Given the description of an element on the screen output the (x, y) to click on. 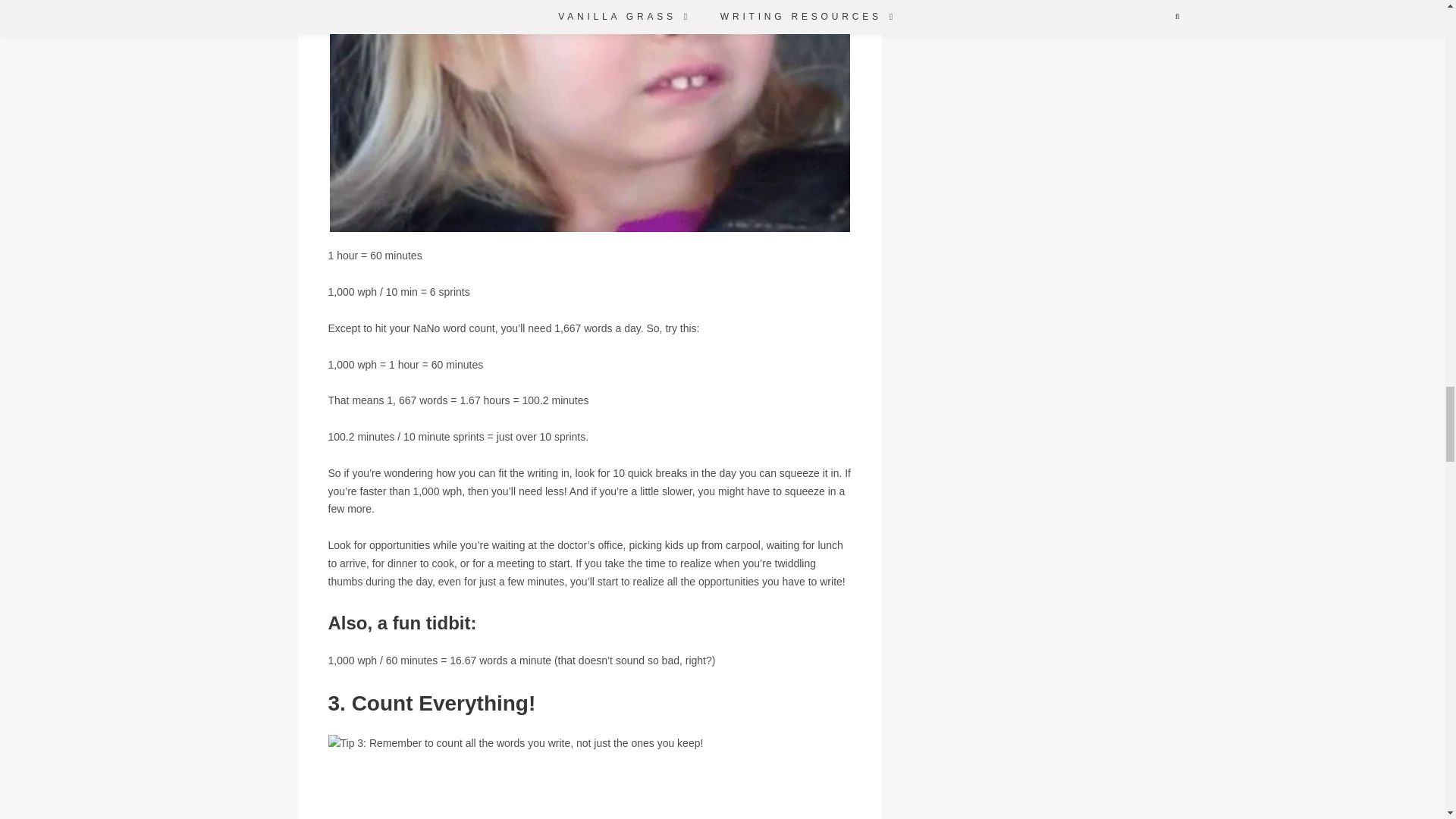
count (588, 115)
